Given the description of an element on the screen output the (x, y) to click on. 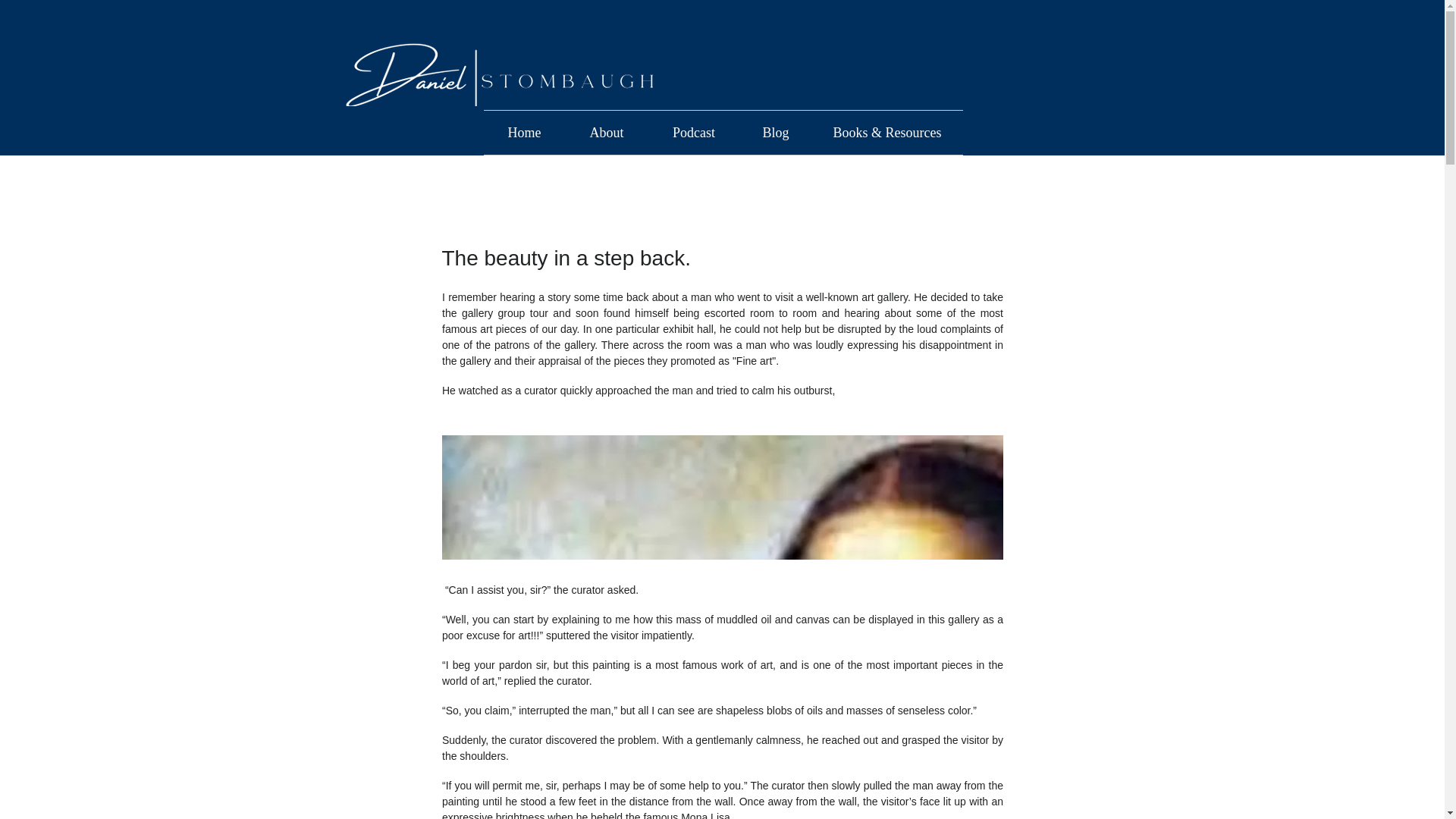
Podcast (693, 132)
Blog (775, 132)
About (606, 132)
Home (524, 132)
